Given the description of an element on the screen output the (x, y) to click on. 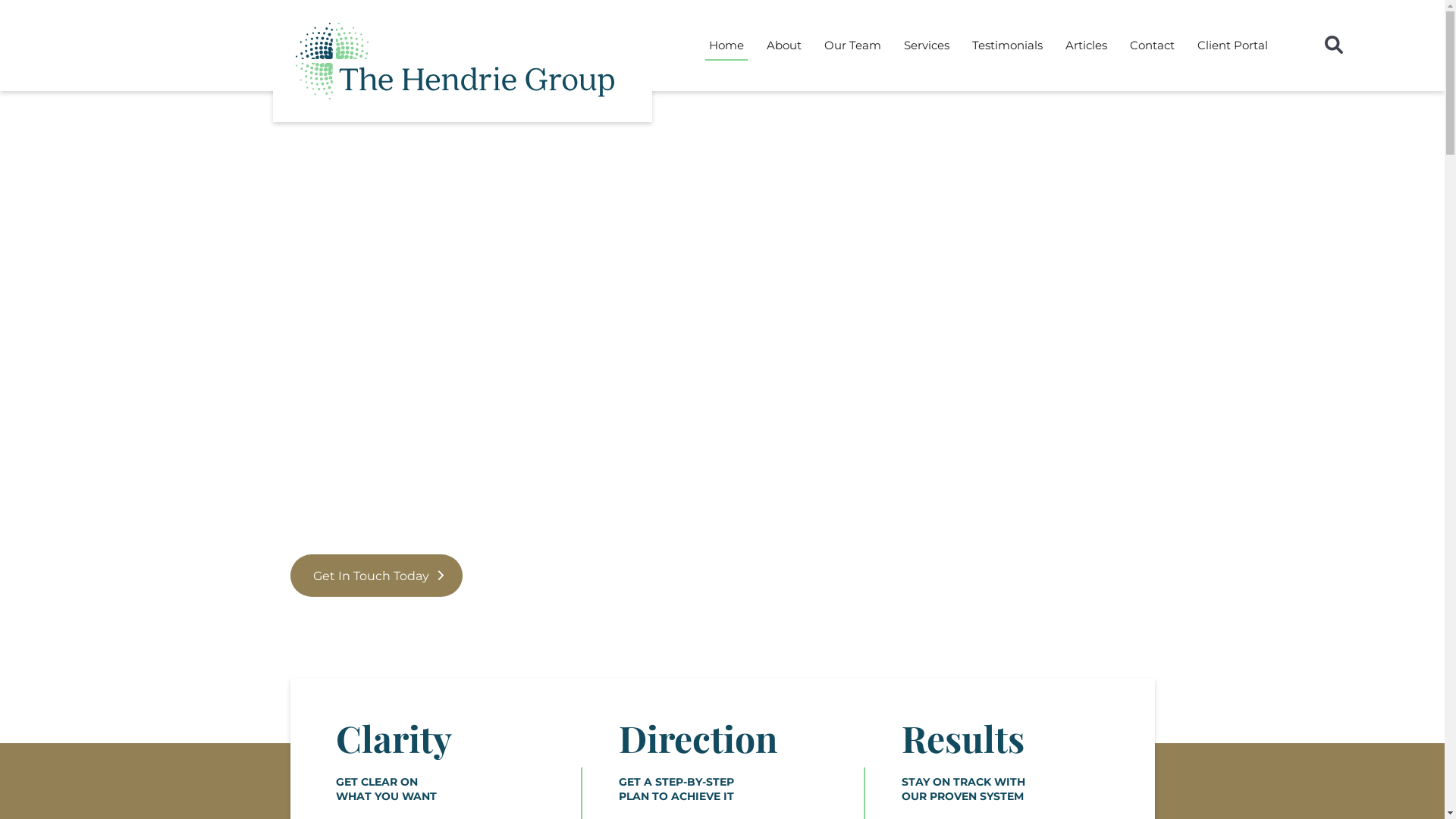
Articles Element type: text (1085, 45)
About Us Element type: text (537, 575)
About Element type: text (783, 45)
Home Element type: text (726, 45)
Services Element type: text (926, 45)
Testimonials Element type: text (1007, 45)
Client Portal Element type: text (1232, 45)
Contact Element type: text (1152, 45)
Our Team Element type: text (852, 45)
Get In Touch Today Element type: text (375, 575)
